Given the description of an element on the screen output the (x, y) to click on. 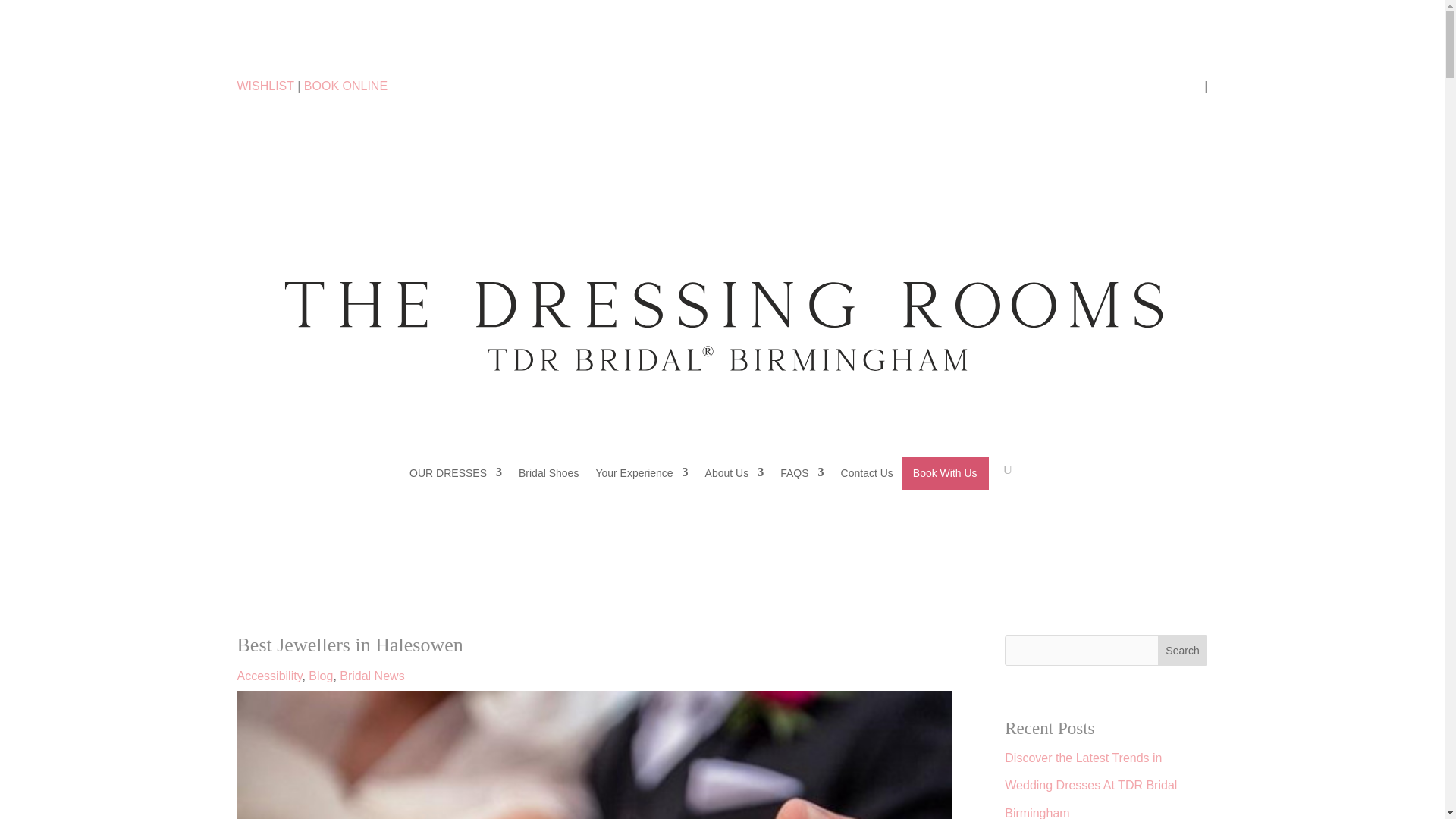
Your Experience (641, 472)
FAQS (802, 472)
Blog (320, 675)
best jewellery (592, 755)
Book With Us (944, 472)
Bridal News (371, 675)
WISHLIST (264, 85)
BOOK ONLINE (345, 85)
About Us (734, 472)
Accessibility (268, 675)
